Given the description of an element on the screen output the (x, y) to click on. 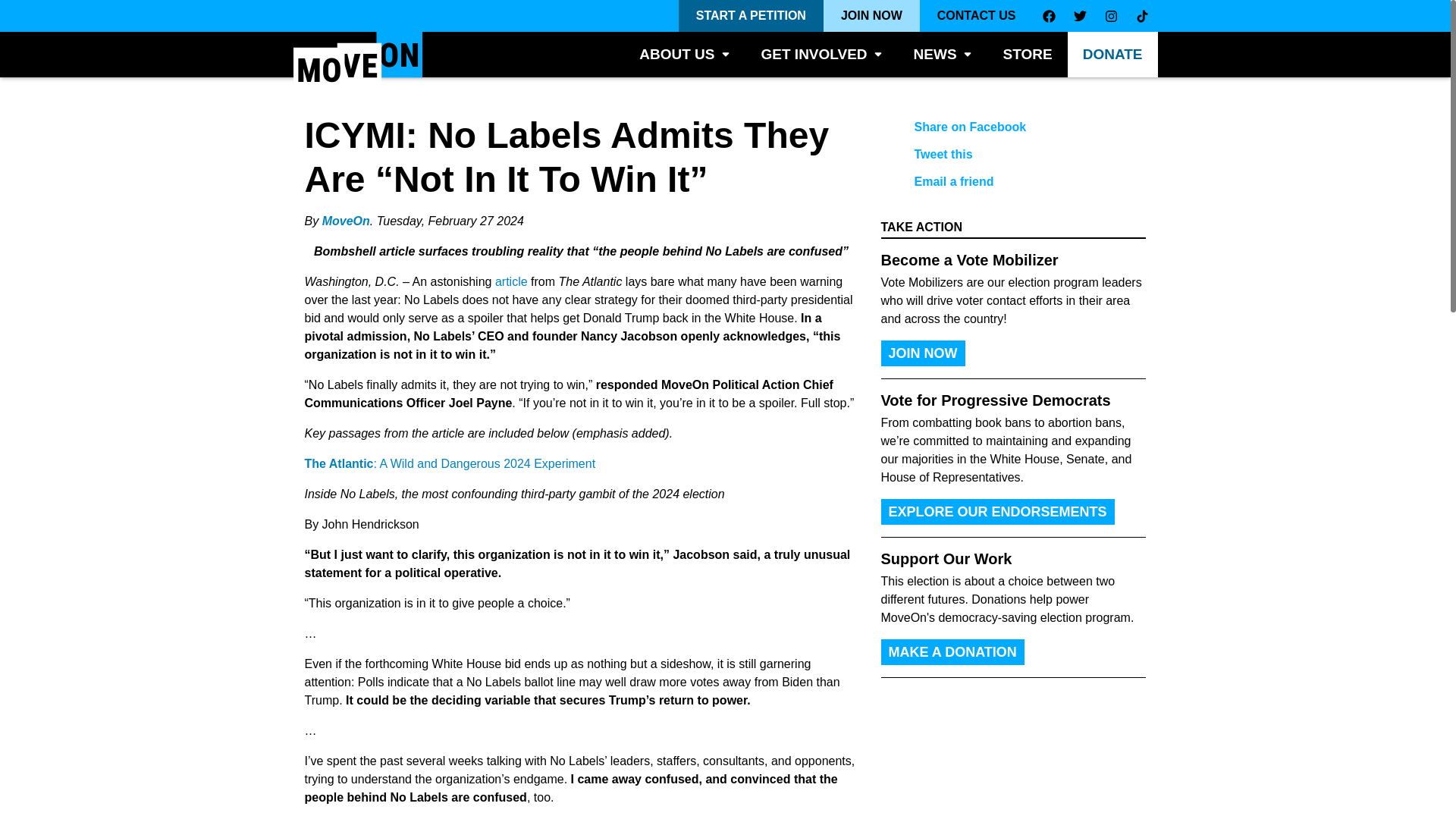
Email a friend (1001, 181)
The Atlantic: A Wild and Dangerous 2024 Experiment (449, 463)
article (511, 281)
MAKE A DONATION (952, 652)
Tweet this (1001, 154)
START A PETITION (751, 15)
MoveOn (345, 220)
CONTACT US (976, 15)
EXPLORE OUR ENDORSEMENTS (997, 511)
JOIN NOW (872, 15)
